Given the description of an element on the screen output the (x, y) to click on. 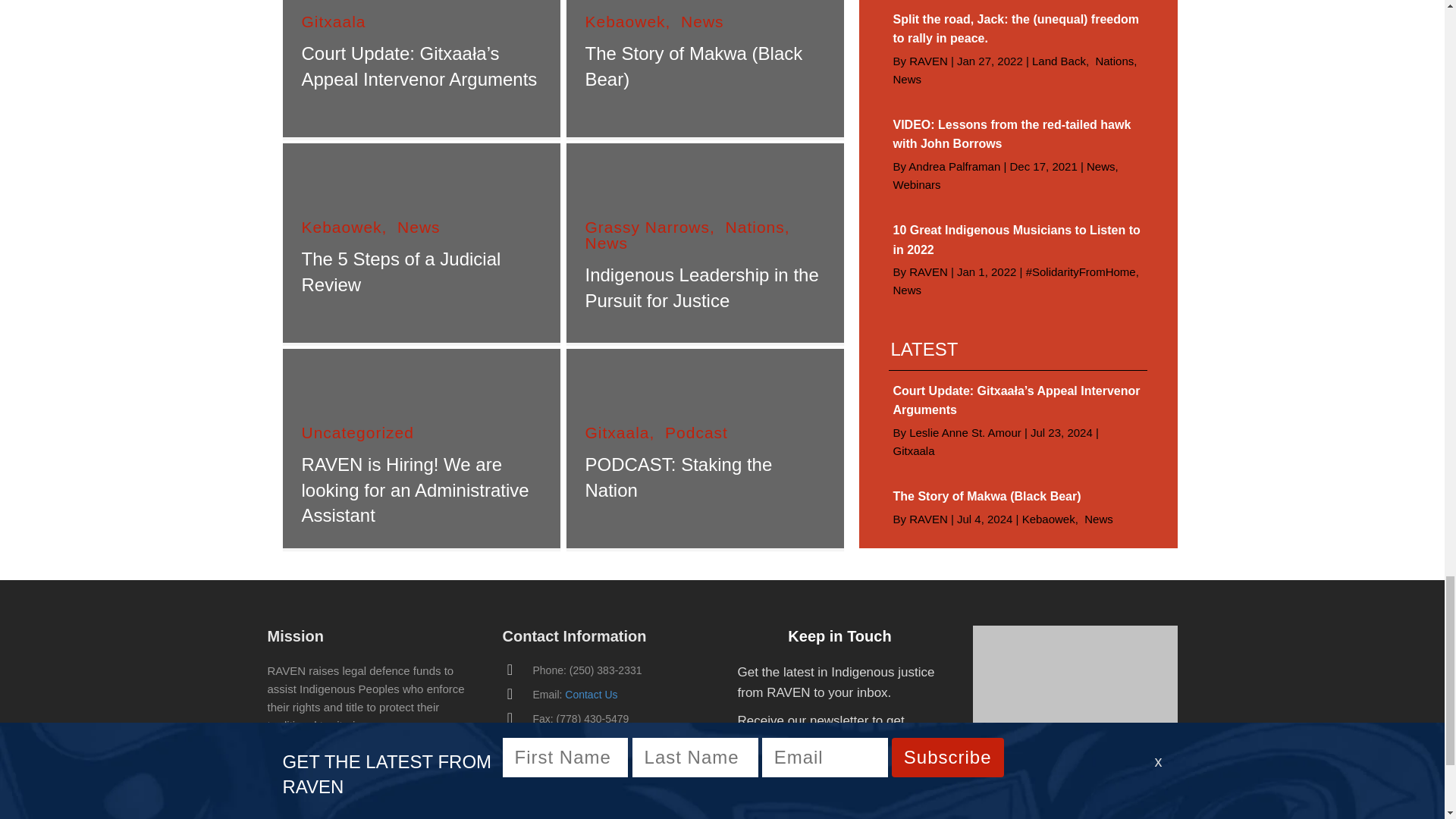
The 5 Steps of a Judicial Review (400, 271)
